Given the description of an element on the screen output the (x, y) to click on. 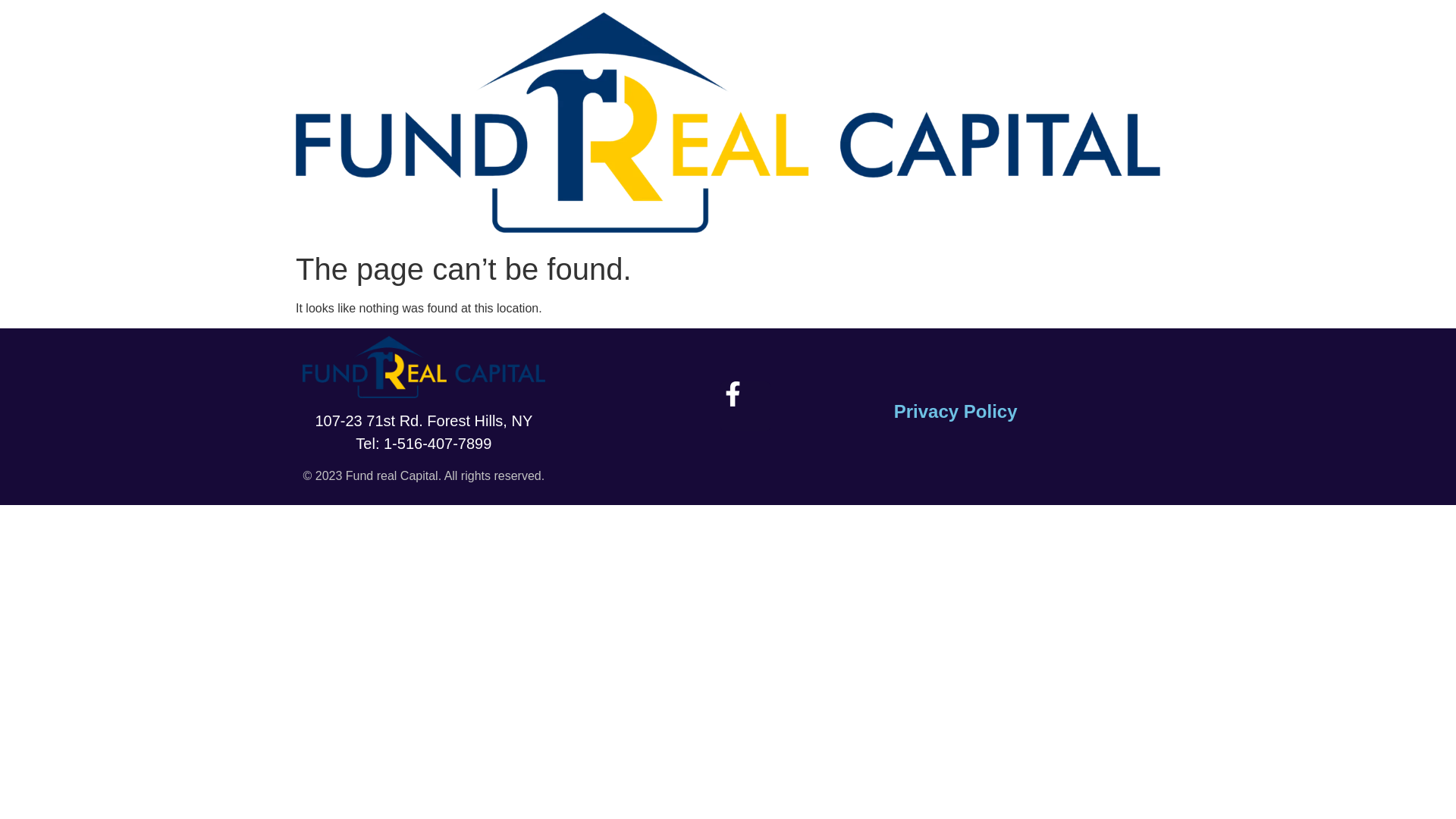
Privacy Policy (955, 411)
